Given the description of an element on the screen output the (x, y) to click on. 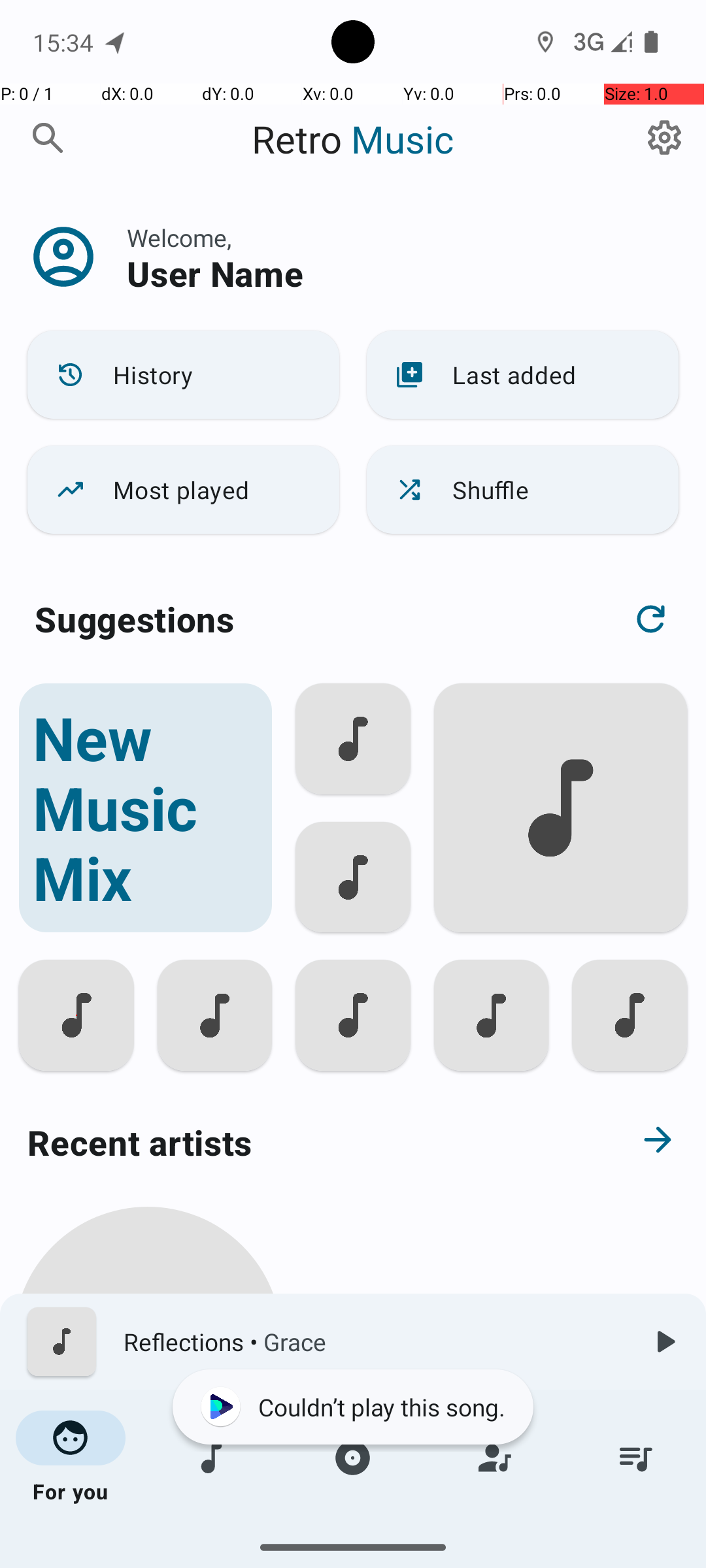
Retro Music Element type: android.widget.TextView (352, 138)
For you Element type: android.widget.FrameLayout (70, 1457)
Songs Element type: android.widget.FrameLayout (211, 1457)
Albums Element type: android.widget.FrameLayout (352, 1457)
Artists Element type: android.widget.FrameLayout (493, 1457)
Playlists Element type: android.widget.FrameLayout (635, 1457)
Welcome, Element type: android.widget.TextView (179, 237)
User Name Element type: android.widget.TextView (214, 273)
Reflections • Grace Element type: android.widget.TextView (372, 1341)
Last added Element type: android.widget.Button (522, 374)
Most played Element type: android.widget.Button (183, 489)
Shuffle Element type: android.widget.Button (522, 489)
Suggestions Element type: android.widget.TextView (134, 618)
New Music Mix Element type: android.widget.TextView (144, 807)
Recent artists Element type: android.widget.TextView (304, 1141)
Recent albums Element type: android.widget.TextView (304, 1557)
Sara Element type: android.widget.TextView (147, 1503)
